Given the description of an element on the screen output the (x, y) to click on. 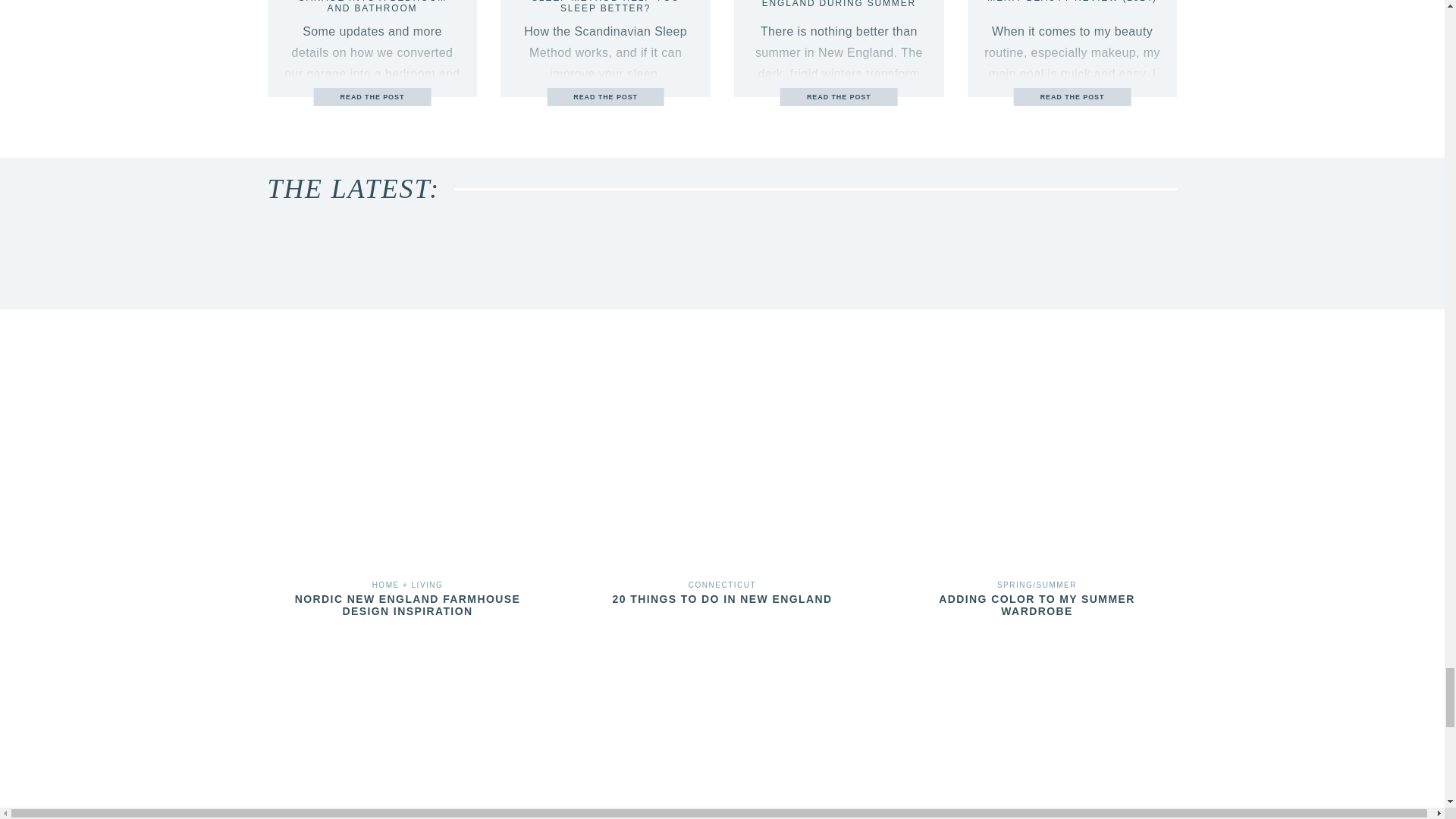
View all posts in Connecticut (721, 584)
